Given the description of an element on the screen output the (x, y) to click on. 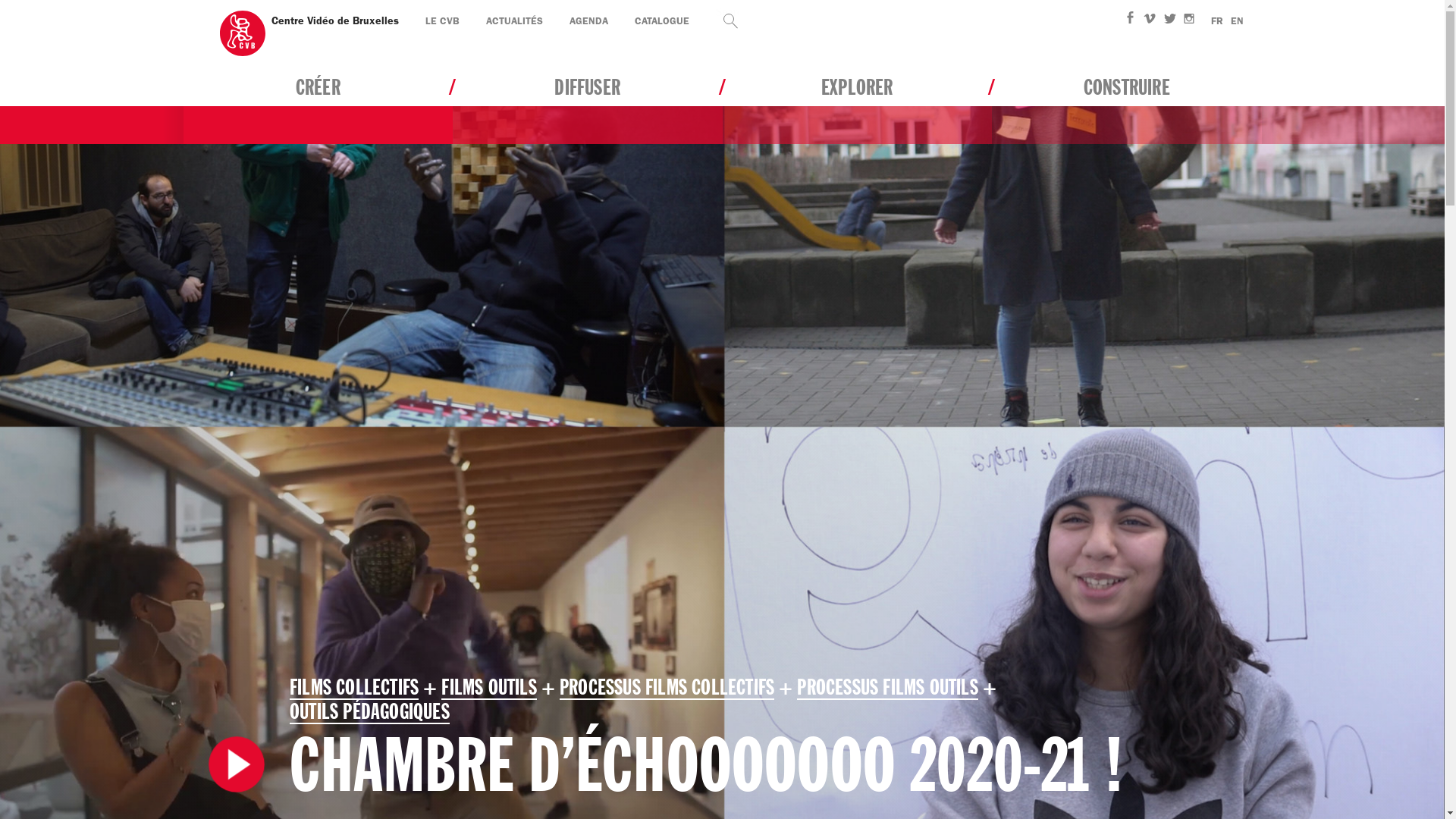
CONSTRUIRE Element type: text (1126, 106)
PROCESSUS FILMS OUTILS Element type: text (887, 687)
Rechercher Element type: text (877, 20)
LE CVB Element type: text (441, 20)
Search Element type: text (726, 19)
PROCESSUS FILMS COLLECTIFS Element type: text (666, 687)
DIFFUSER Element type: text (587, 106)
EN Element type: text (1236, 20)
AGENDA Element type: text (587, 20)
TWITTER_SYMBOL Created with Sketch. Element type: text (1169, 19)
FR Element type: text (1216, 20)
FACEBOOK Created with Sketch. Element type: text (1131, 19)
CATALOGUE Element type: text (660, 20)
EXPLORER Element type: text (856, 106)
Vimeo Created with Sketch. Element type: text (1148, 19)
FILMS COLLECTIFS Element type: text (353, 687)
INSTAGRAM_SYMBOL Created with Sketch. Element type: text (1188, 19)
FILMS OUTILS Element type: text (488, 687)
